Given the description of an element on the screen output the (x, y) to click on. 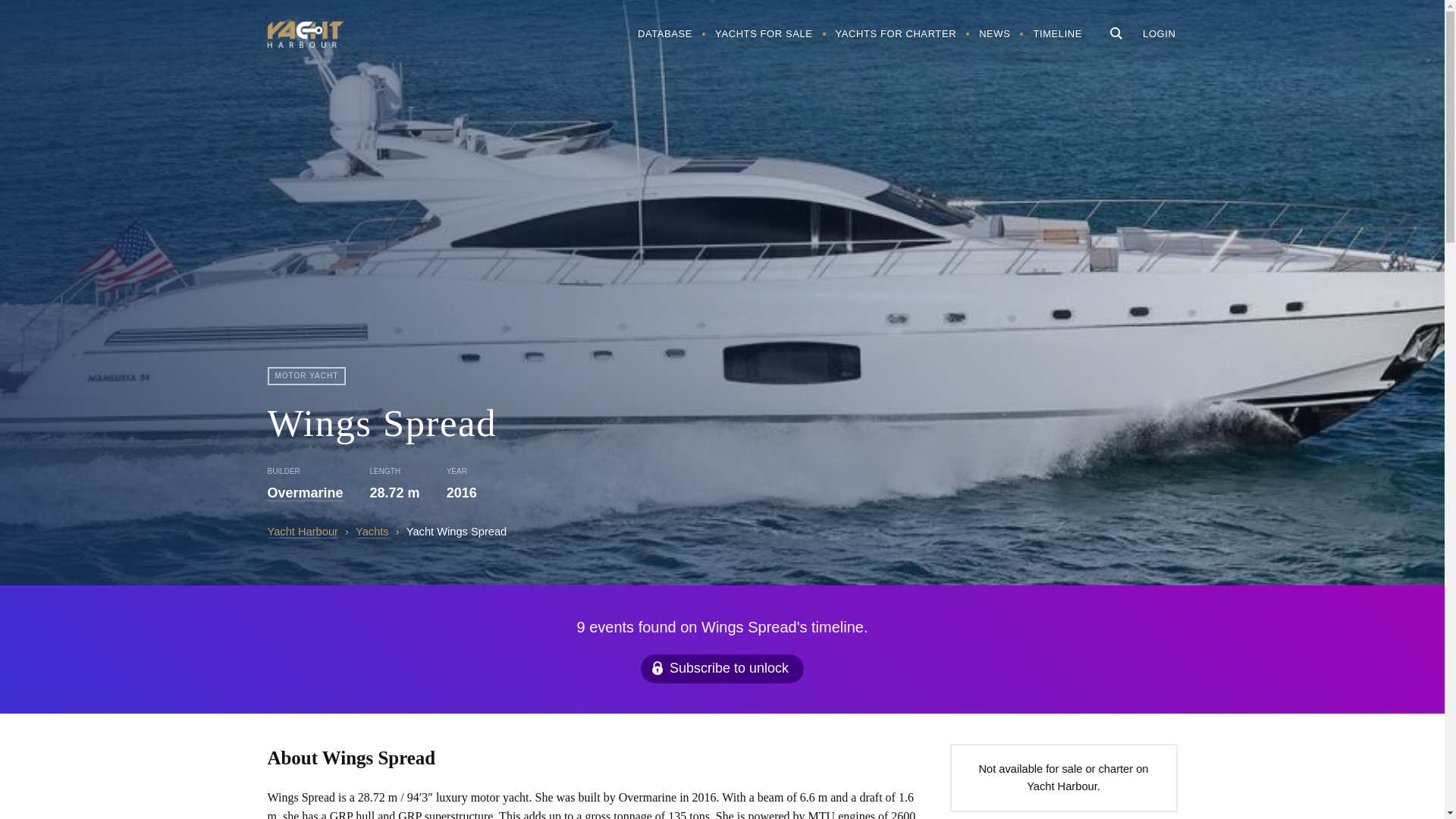
DATABASE (664, 33)
Yachts (371, 531)
YACHTS FOR SALE (763, 33)
Yacht Harbour (301, 531)
TIMELINE (1057, 33)
LOGIN (1158, 33)
Subscribe to unlock (721, 668)
NEWS (995, 33)
Yacht Harbour (304, 36)
Overmarine (304, 493)
